Given the description of an element on the screen output the (x, y) to click on. 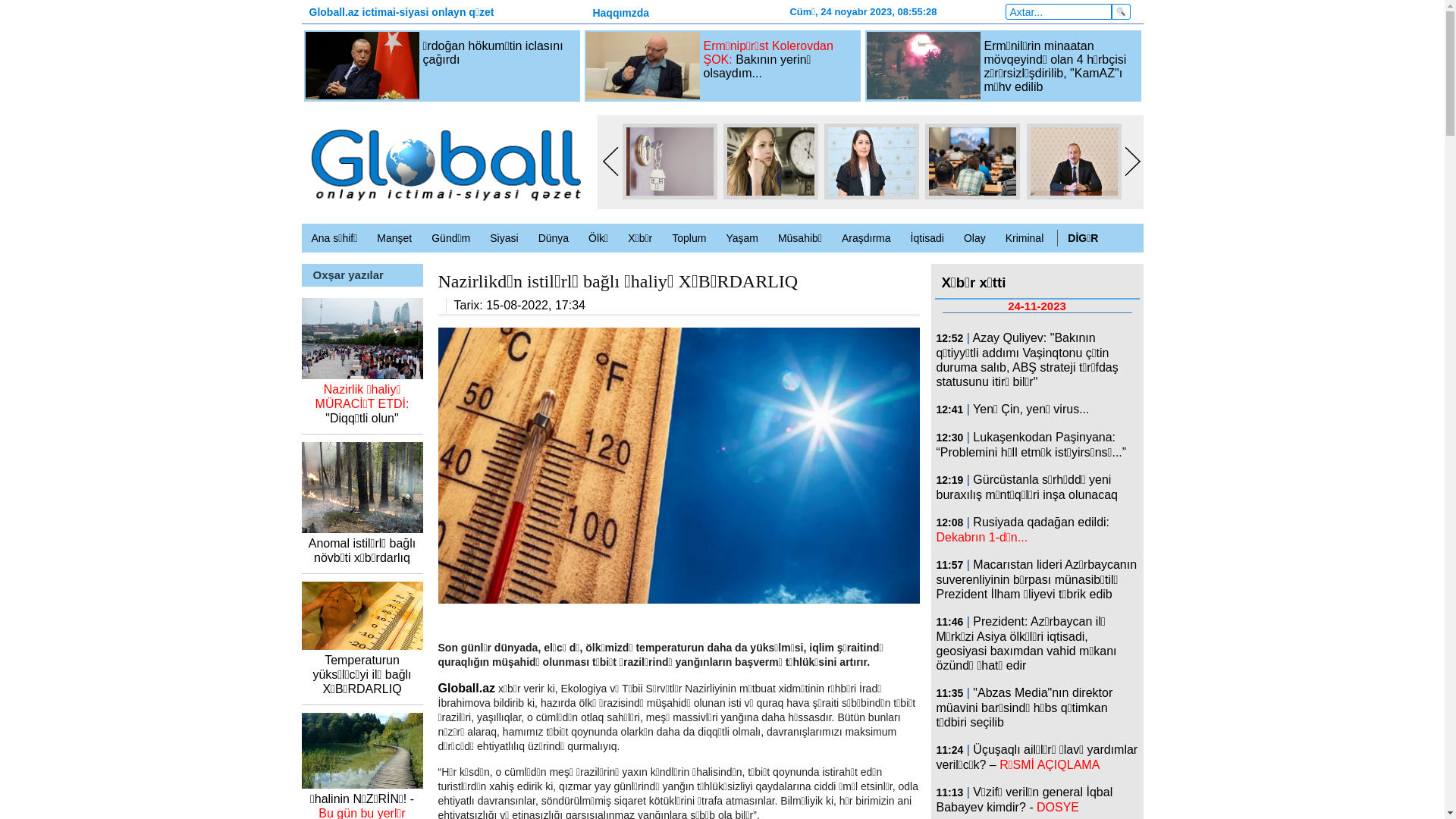
Kriminal Element type: text (1024, 237)
Globall.az Element type: hover (444, 163)
Siyasi Element type: text (503, 237)
Olay Element type: text (974, 237)
Toplum Element type: text (688, 237)
Tarix: 15-08-2022, 17:34 Element type: text (518, 304)
Globall.az Element type: text (466, 687)
